Given the description of an element on the screen output the (x, y) to click on. 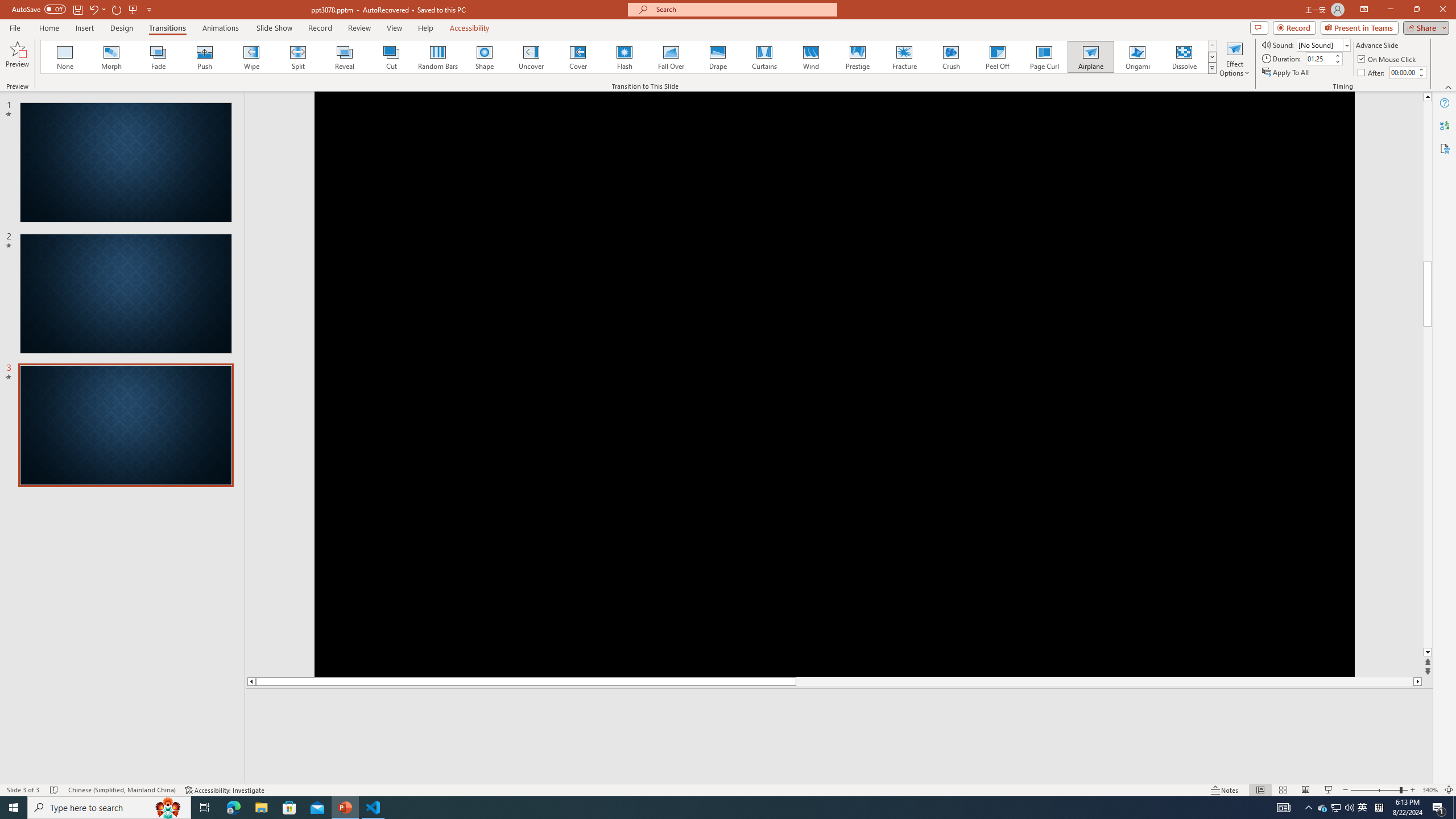
Morph (111, 56)
Apply To All (1286, 72)
